Given the description of an element on the screen output the (x, y) to click on. 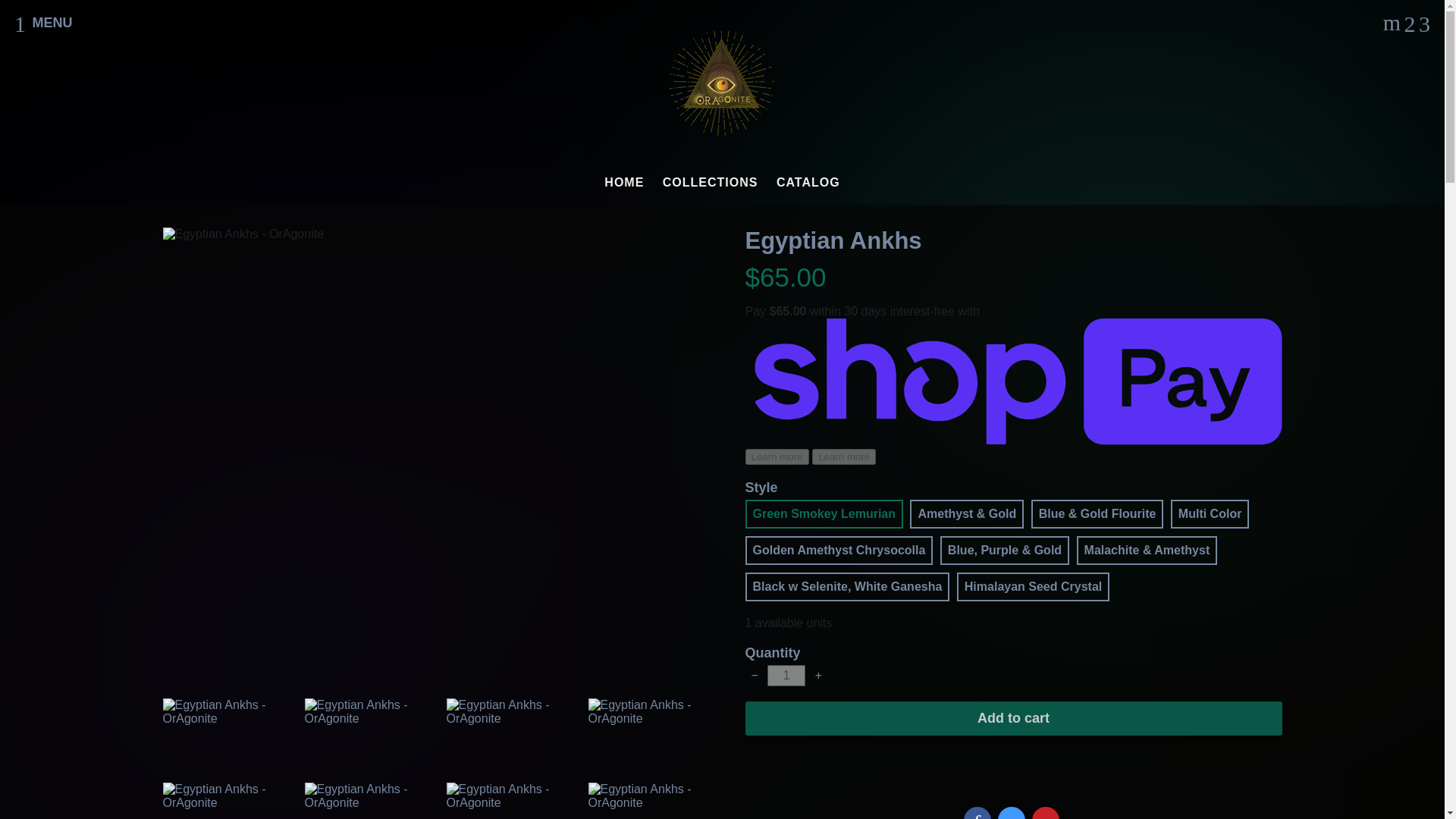
Share on Pinterest (1045, 812)
MENU (42, 23)
COLLECTIONS (710, 182)
1 (786, 675)
HOME (623, 182)
Share on Twitter (1011, 812)
